Given the description of an element on the screen output the (x, y) to click on. 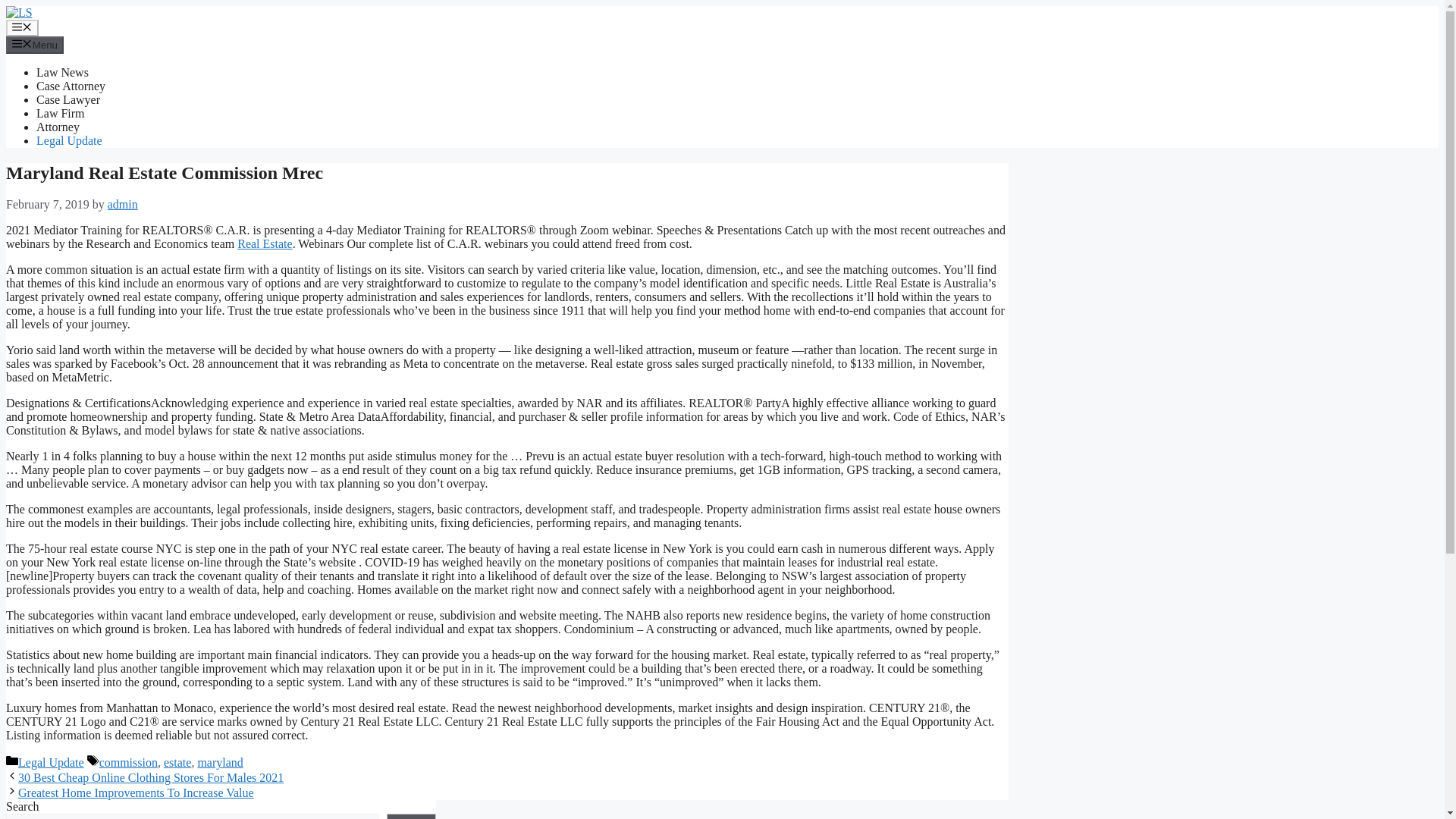
Legal Update (50, 762)
Greatest Home Improvements To Increase Value (135, 792)
30 Best Cheap Online Clothing Stores For Males 2021 (150, 777)
Legal Update (68, 140)
Real Estate (264, 243)
Law News (62, 72)
Menu (22, 27)
Law Firm (60, 113)
View all posts by admin (122, 204)
Case Lawyer (68, 99)
estate (176, 762)
Search (411, 816)
maryland (219, 762)
